Given the description of an element on the screen output the (x, y) to click on. 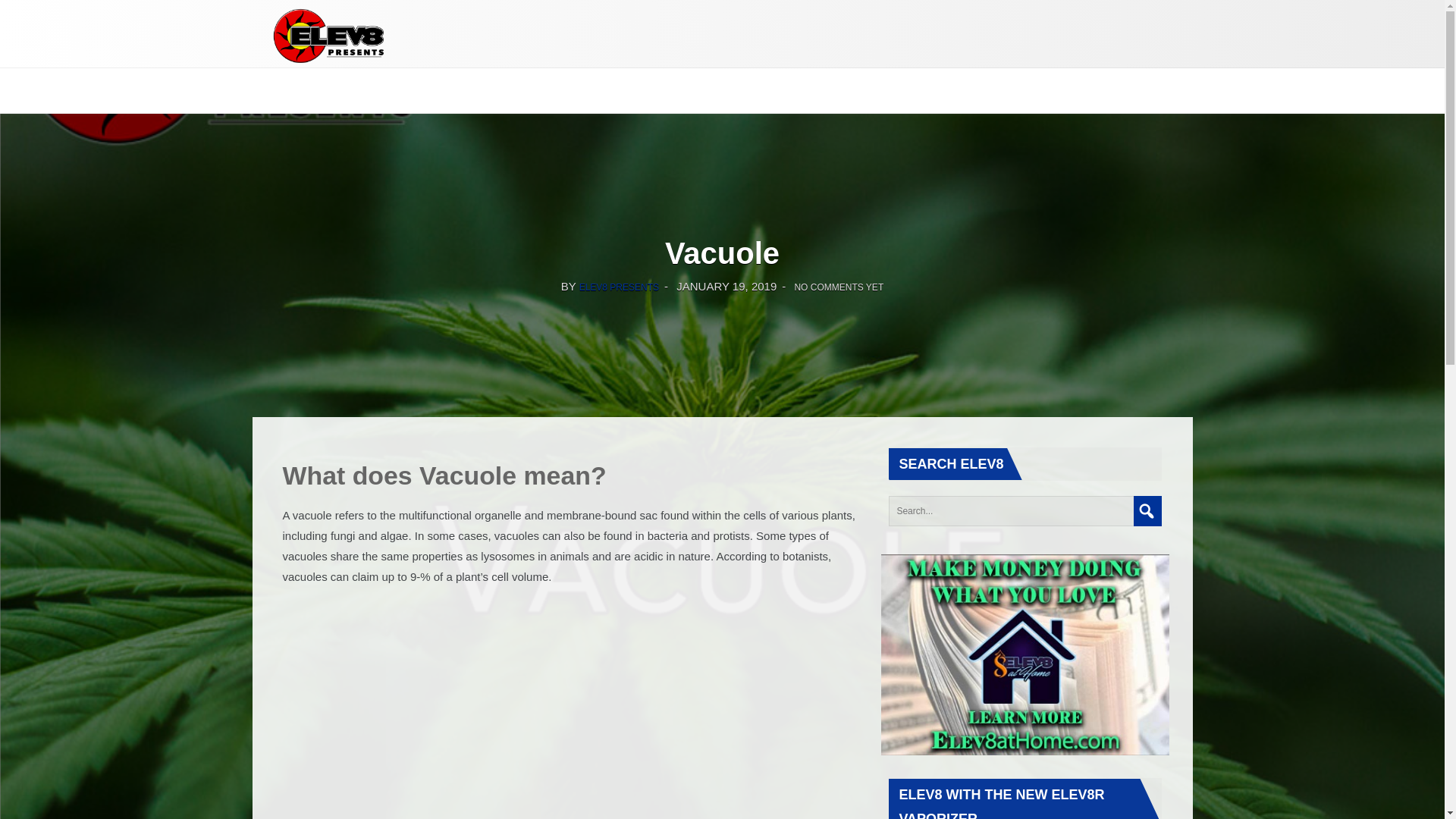
EDUCATION (408, 82)
DANK DEALS (306, 82)
REVIEWS (490, 82)
